Given the description of an element on the screen output the (x, y) to click on. 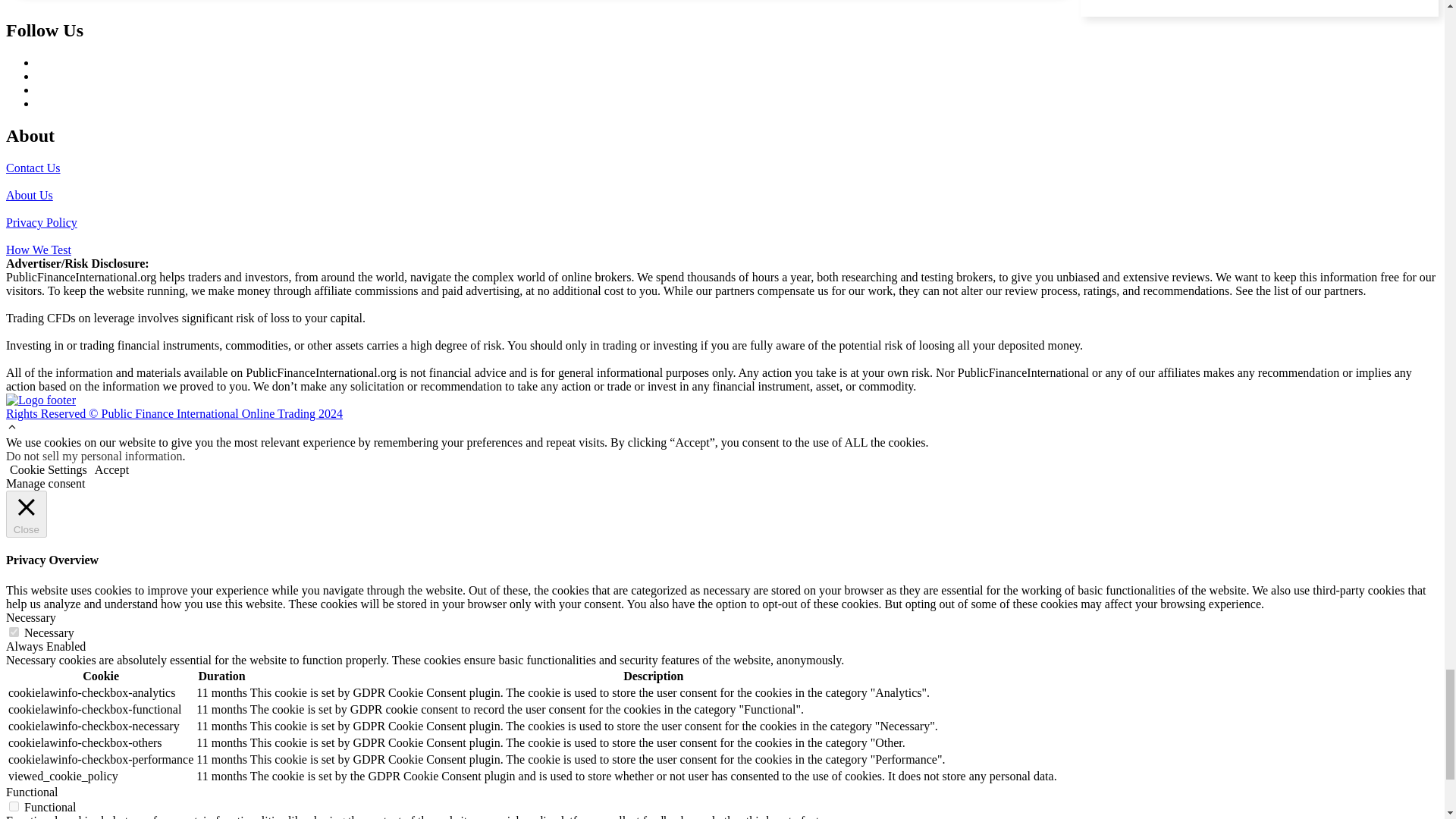
on (13, 806)
on (13, 632)
